Given the description of an element on the screen output the (x, y) to click on. 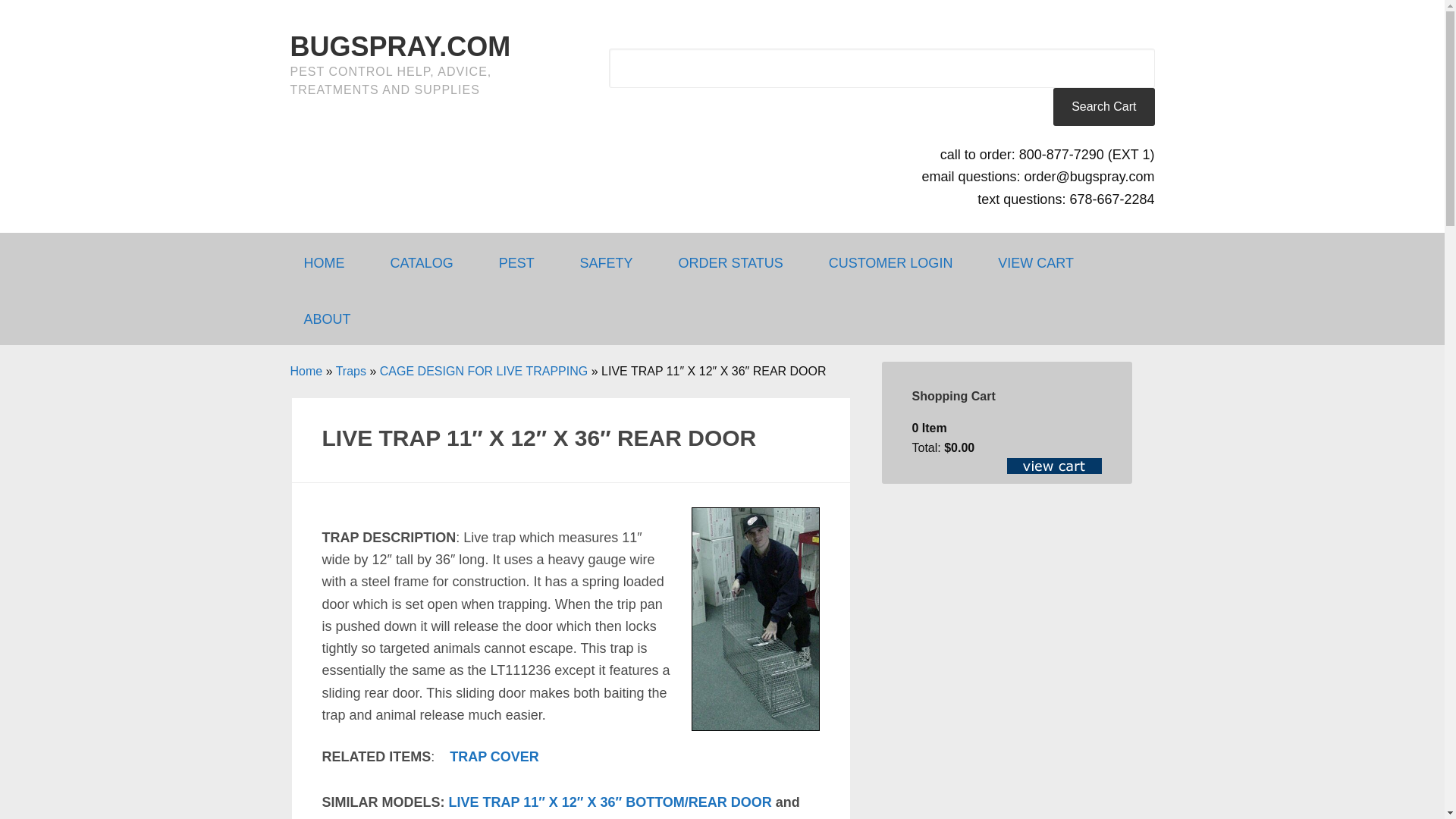
Search Cart (1103, 106)
HOME (330, 260)
BUGSPRAY.COM (400, 46)
Search Cart (1103, 106)
CATALOG (428, 260)
